Given the description of an element on the screen output the (x, y) to click on. 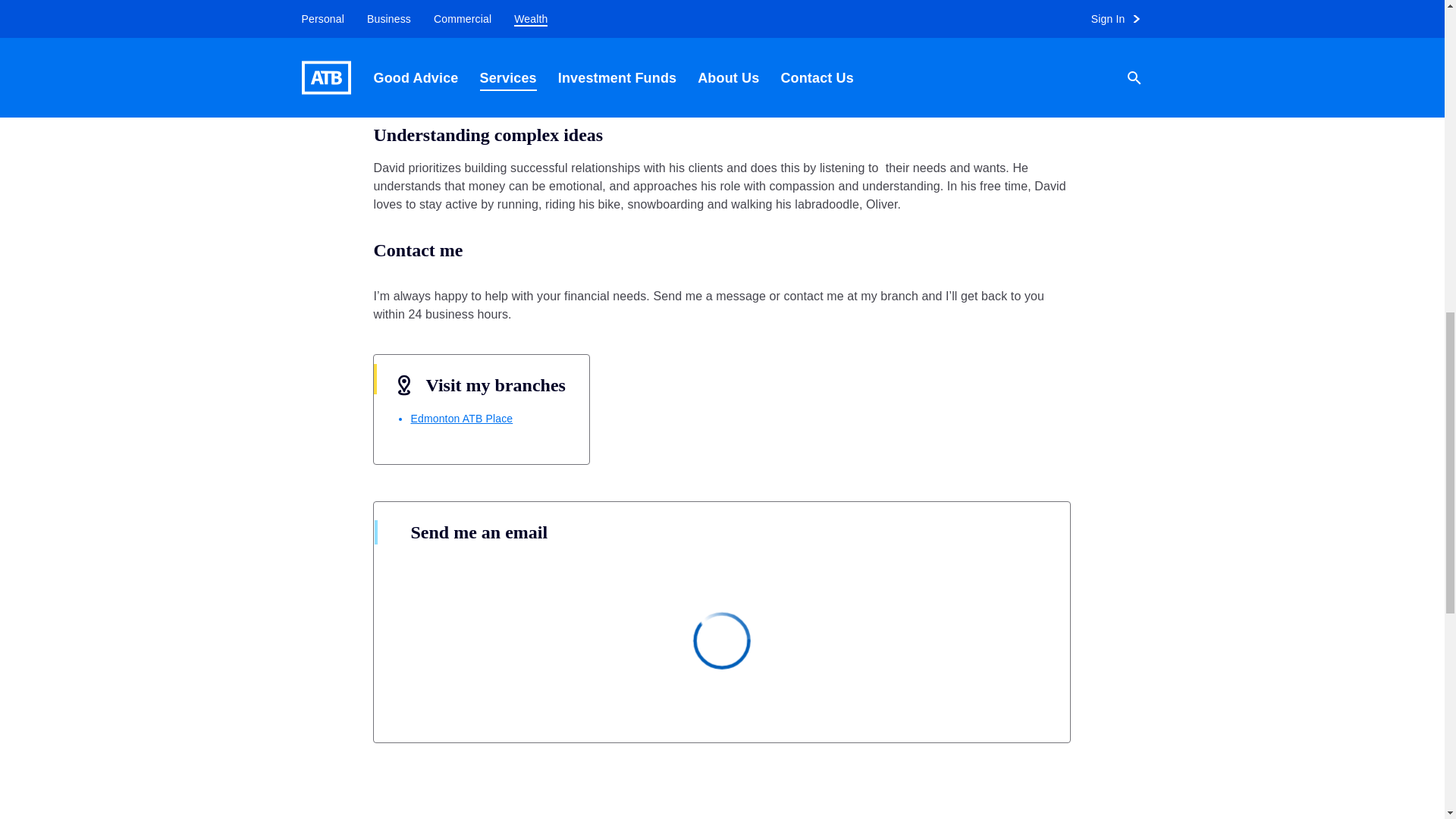
Edmonton ATB Place (461, 418)
